Given the description of an element on the screen output the (x, y) to click on. 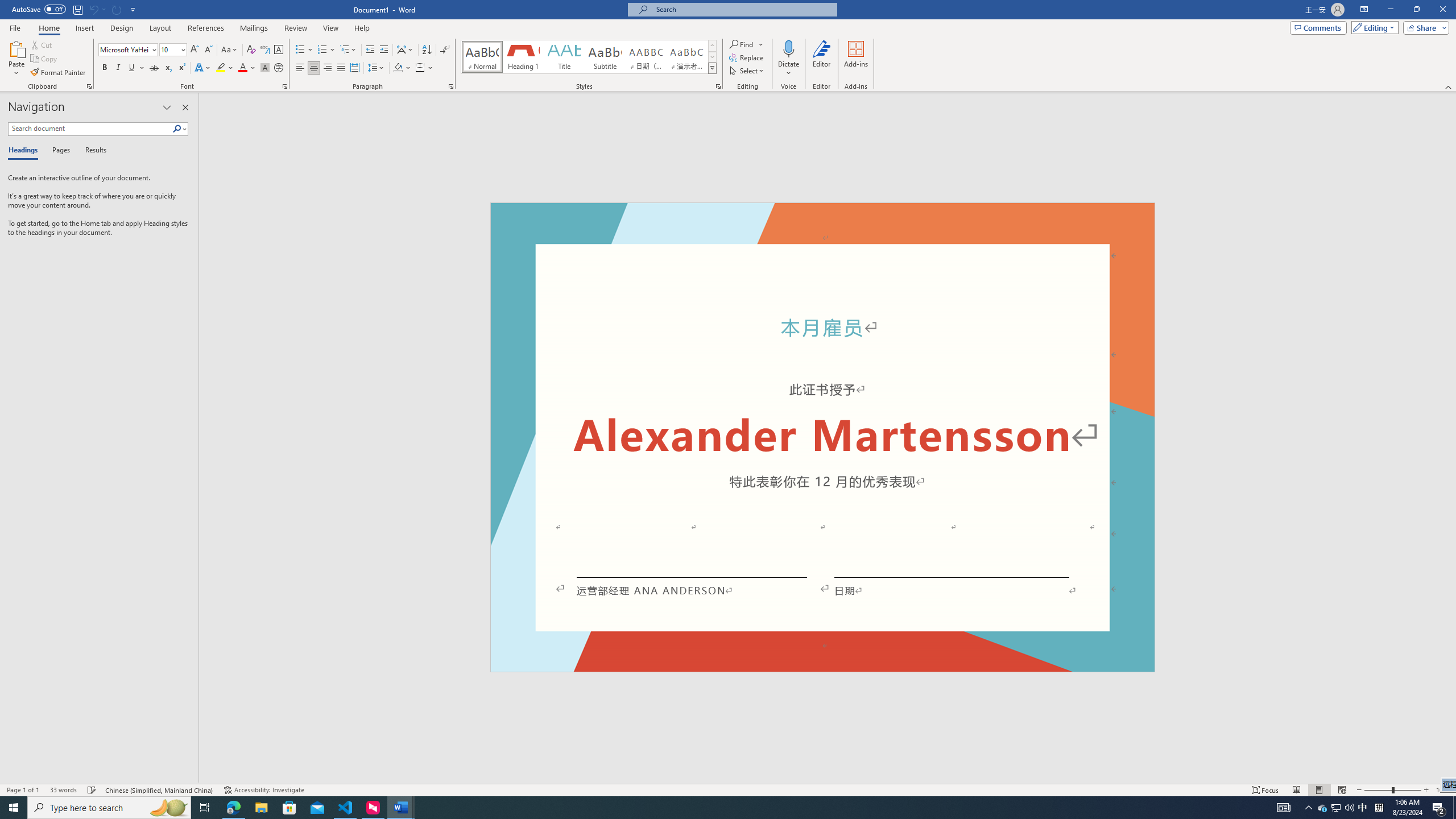
Quick Access Toolbar (74, 9)
Paragraph... (450, 85)
Align Right (327, 67)
Class: NetUIScrollBar (1450, 437)
Headings (25, 150)
Search document (89, 128)
Increase Indent (383, 49)
Spelling and Grammar Check Checking (91, 790)
